Given the description of an element on the screen output the (x, y) to click on. 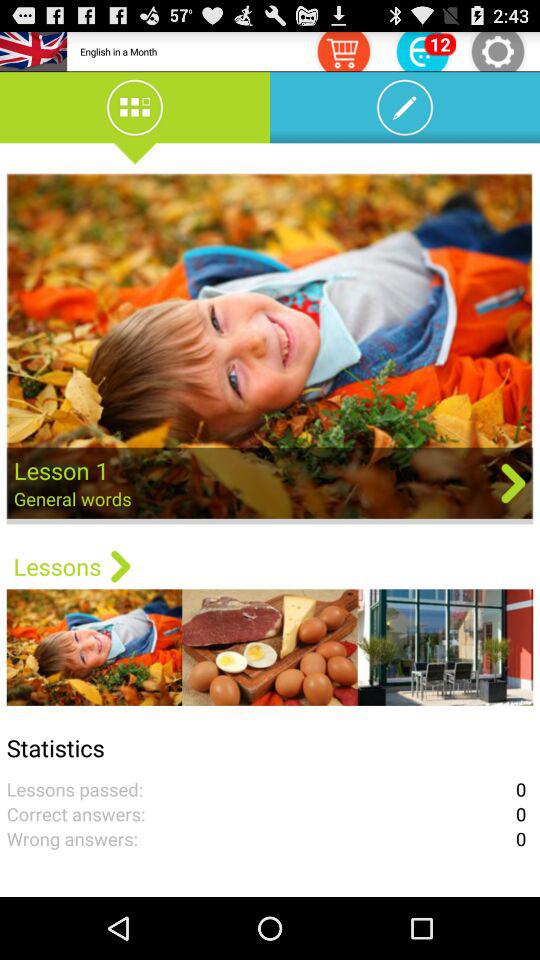
shopping cart (343, 50)
